Given the description of an element on the screen output the (x, y) to click on. 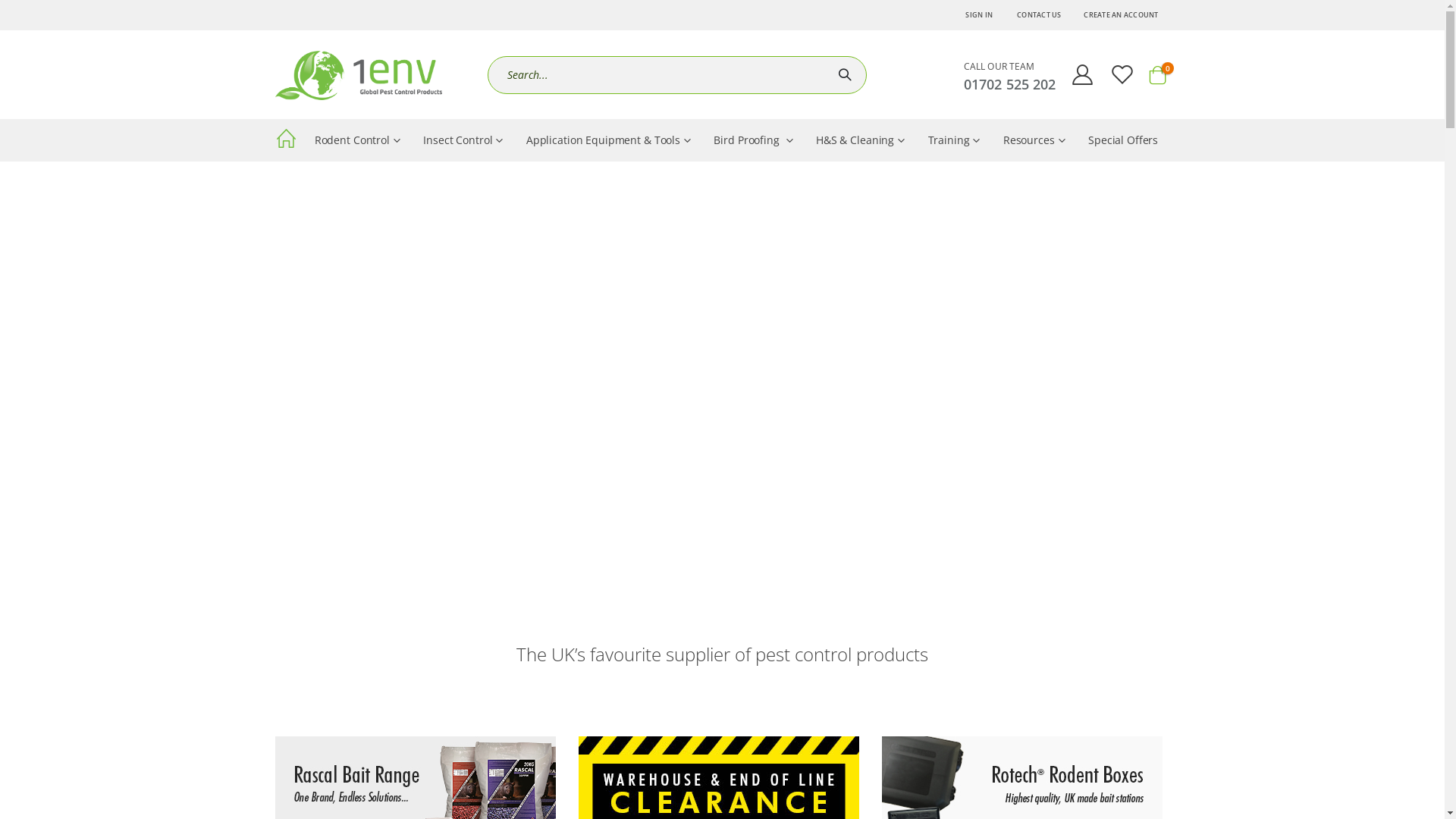
  Element type: text (288, 140)
Rodent Control Element type: text (357, 140)
CREATE AN ACCOUNT Element type: text (1120, 15)
Special Offers Element type: text (1123, 140)
My Account Element type: hover (1082, 74)
Basket
0 Element type: text (1157, 74)
Bird Proofing Element type: text (753, 140)
Search Element type: hover (846, 74)
H&S & Cleaning Element type: text (860, 140)
CONTACT US Element type: text (1038, 15)
Application Equipment & Tools Element type: text (608, 140)
SIGN IN Element type: text (978, 15)
Resources Element type: text (1033, 140)
Training Element type: text (953, 140)
My Favourites Element type: hover (1122, 73)
Insect Control Element type: text (462, 140)
